Given the description of an element on the screen output the (x, y) to click on. 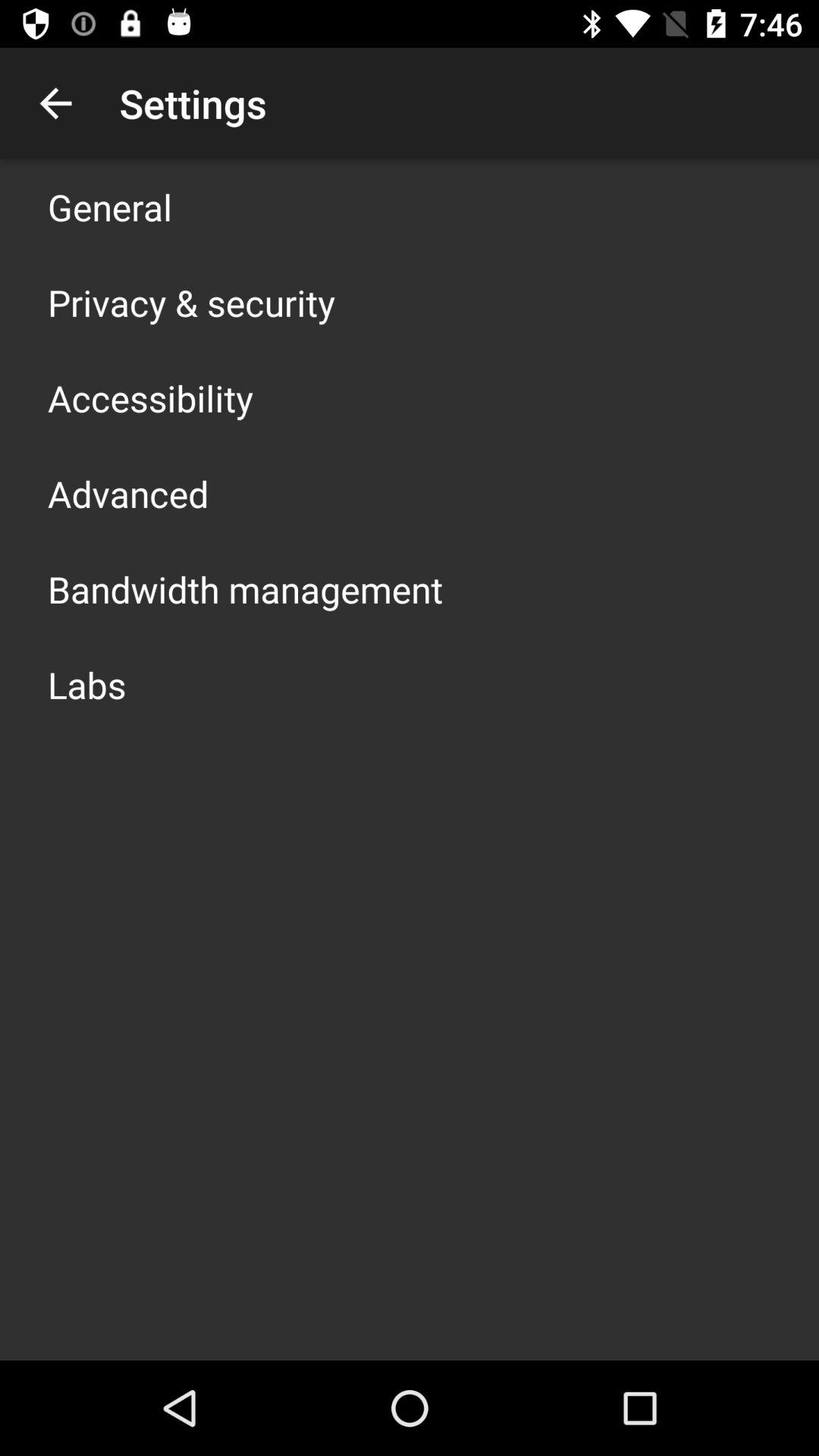
press the item below accessibility item (127, 493)
